Given the description of an element on the screen output the (x, y) to click on. 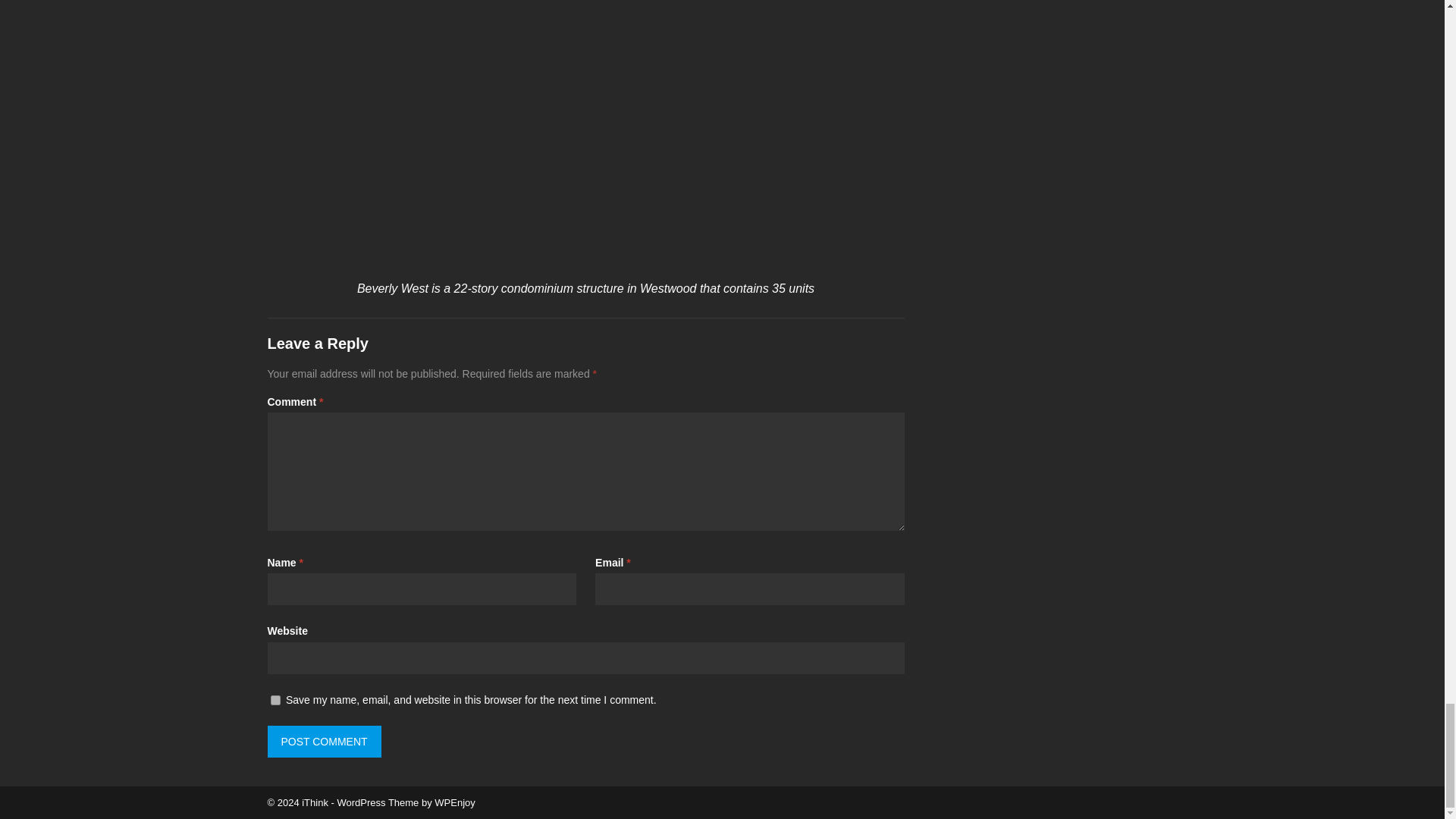
yes (274, 700)
Post Comment (323, 741)
Post Comment (323, 741)
